Given the description of an element on the screen output the (x, y) to click on. 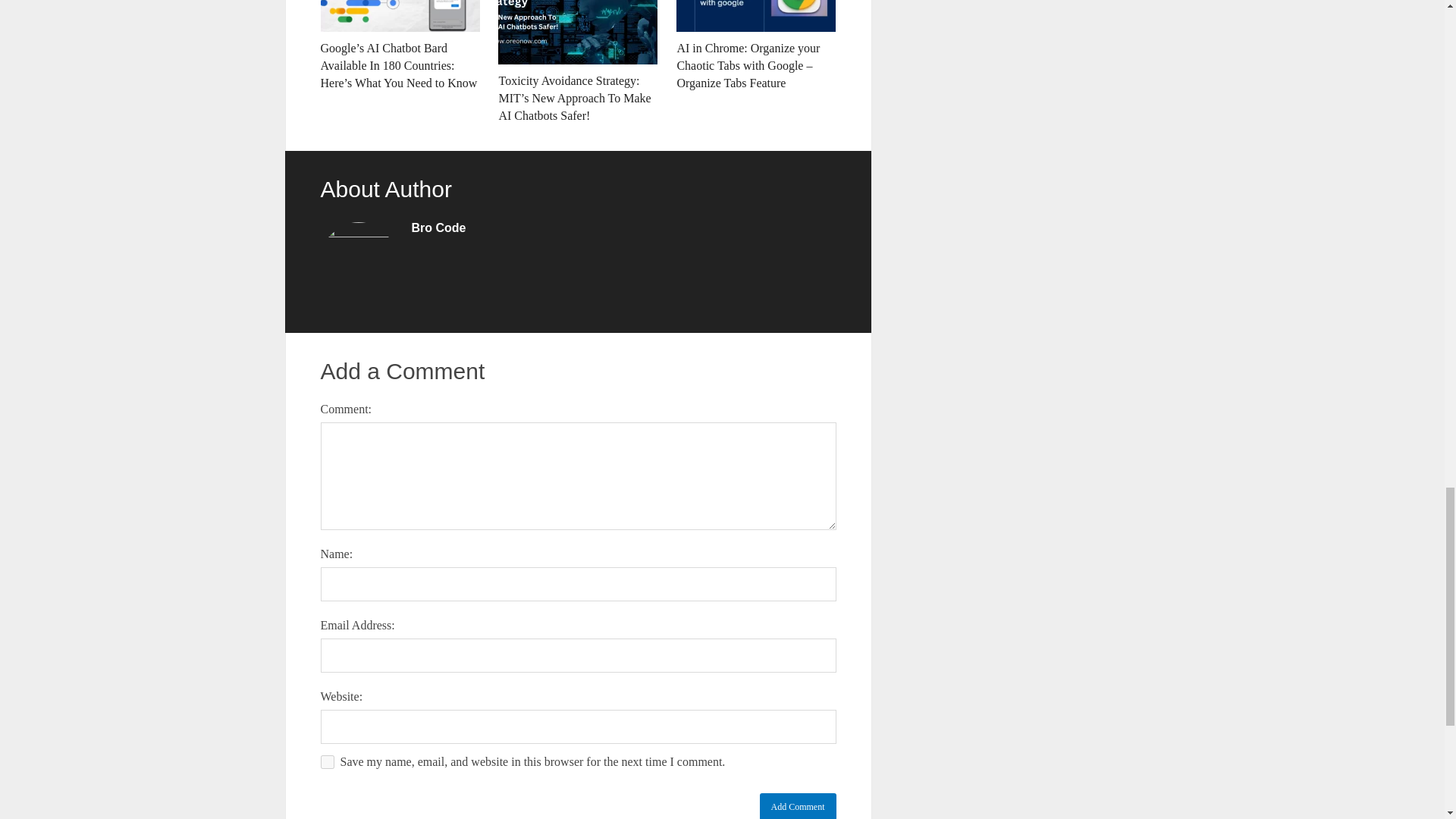
Add Comment (797, 806)
yes (326, 762)
Add Comment (797, 806)
